Given the description of an element on the screen output the (x, y) to click on. 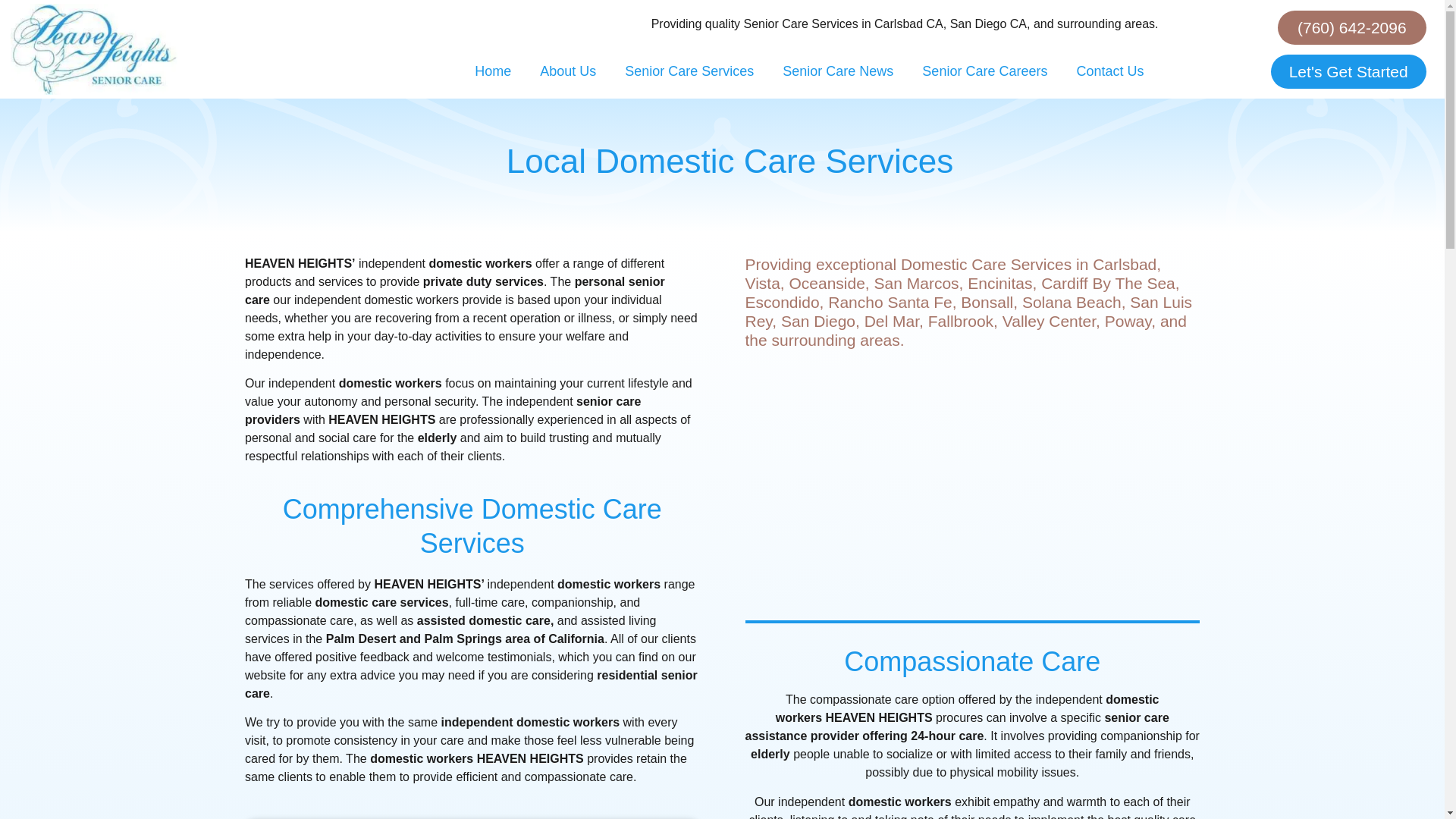
Let's Get Started (1348, 71)
Senior Care News (837, 70)
About Us (567, 70)
Senior Care Services (689, 70)
Home (492, 70)
Senior Care Careers (984, 70)
Contact Us (1109, 70)
